Given the description of an element on the screen output the (x, y) to click on. 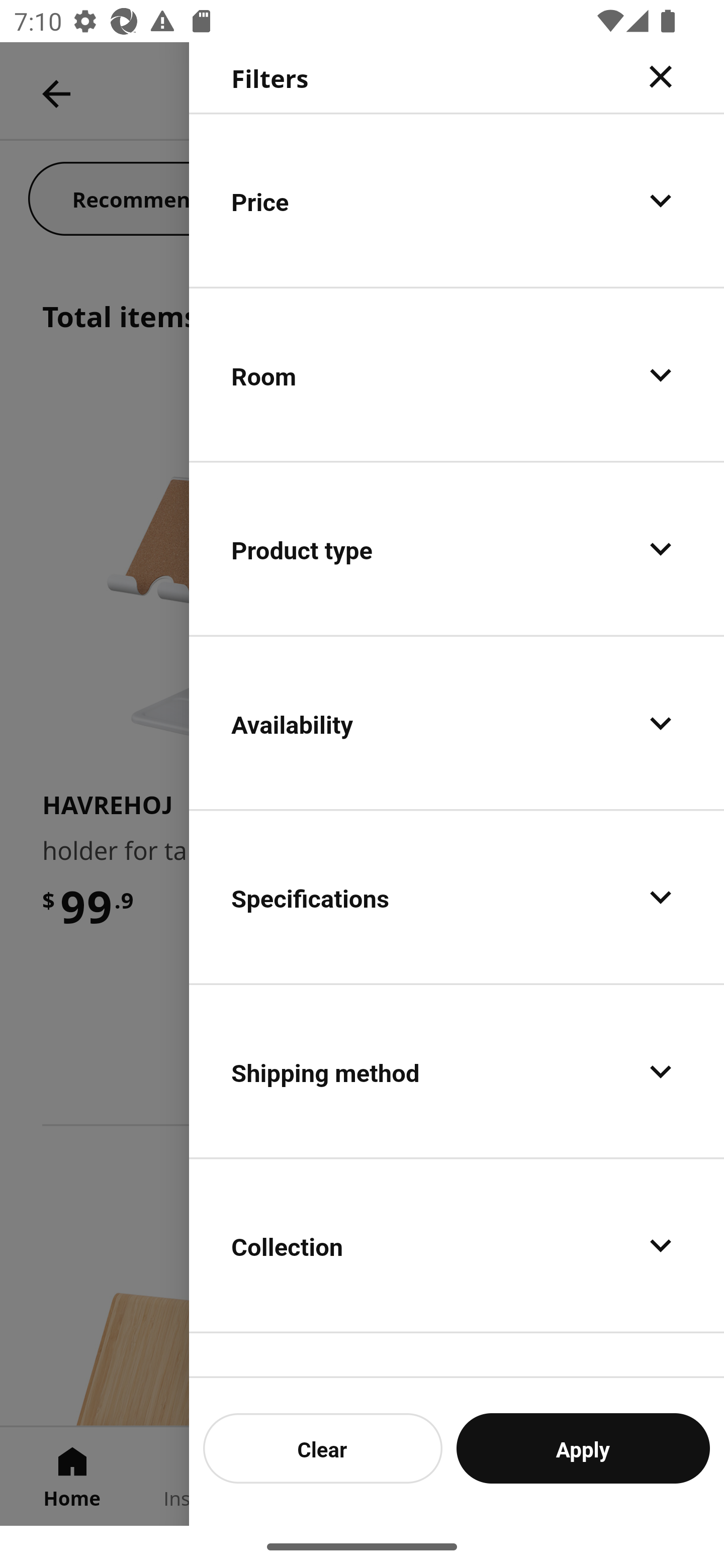
Price (456, 200)
Room (456, 374)
Product type (456, 548)
Availability (456, 722)
Specifications (456, 896)
Shipping method (456, 1070)
Collection (456, 1244)
Clear (322, 1447)
Apply (583, 1447)
